Given the description of an element on the screen output the (x, y) to click on. 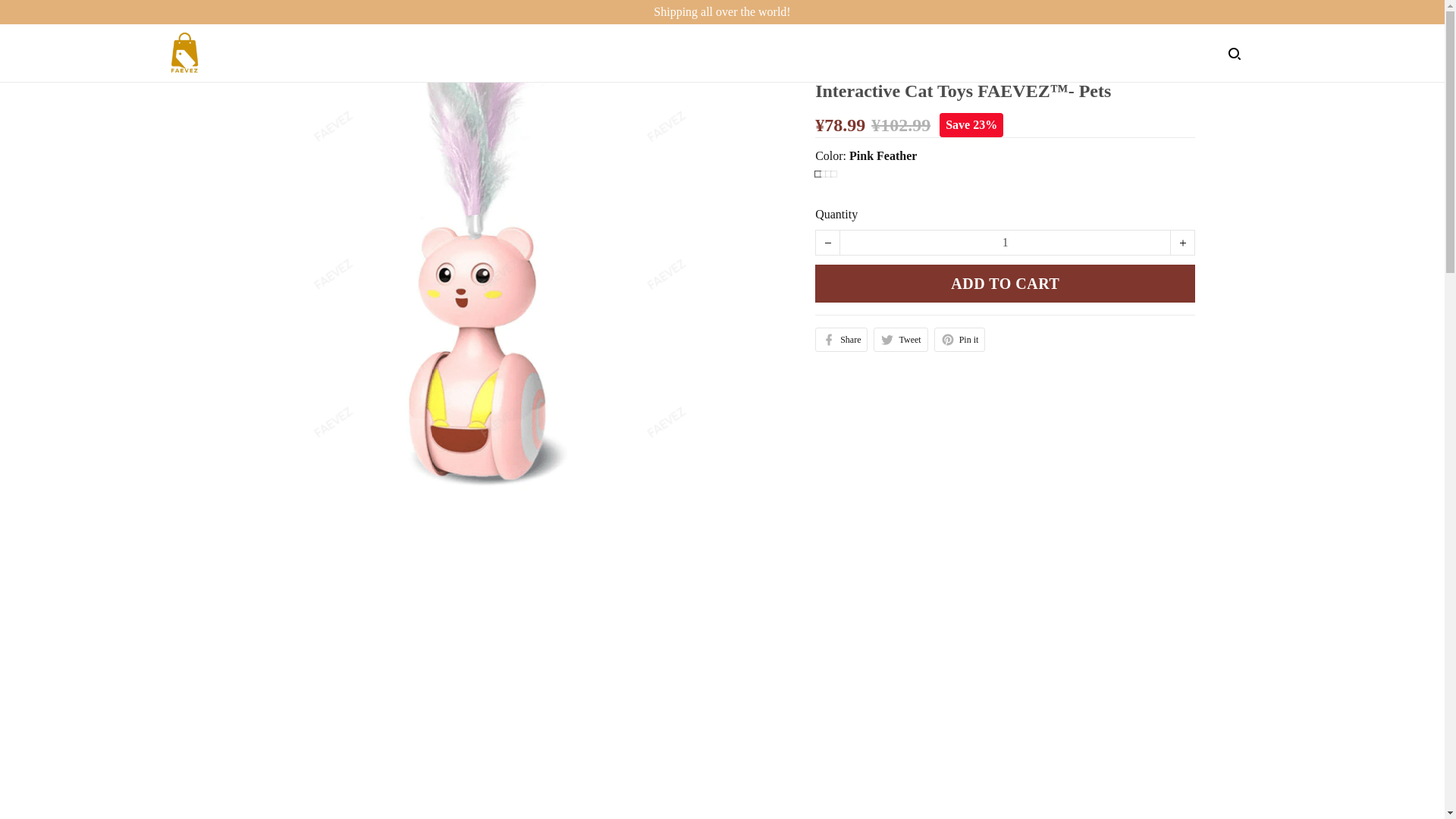
Share on Twitter (900, 339)
1 (1005, 242)
ADD TO CART (1005, 283)
Pin it (959, 339)
Tweet (900, 339)
Share (841, 339)
Share on Facebook (841, 339)
Pin on Pinterest (959, 339)
